Given the description of an element on the screen output the (x, y) to click on. 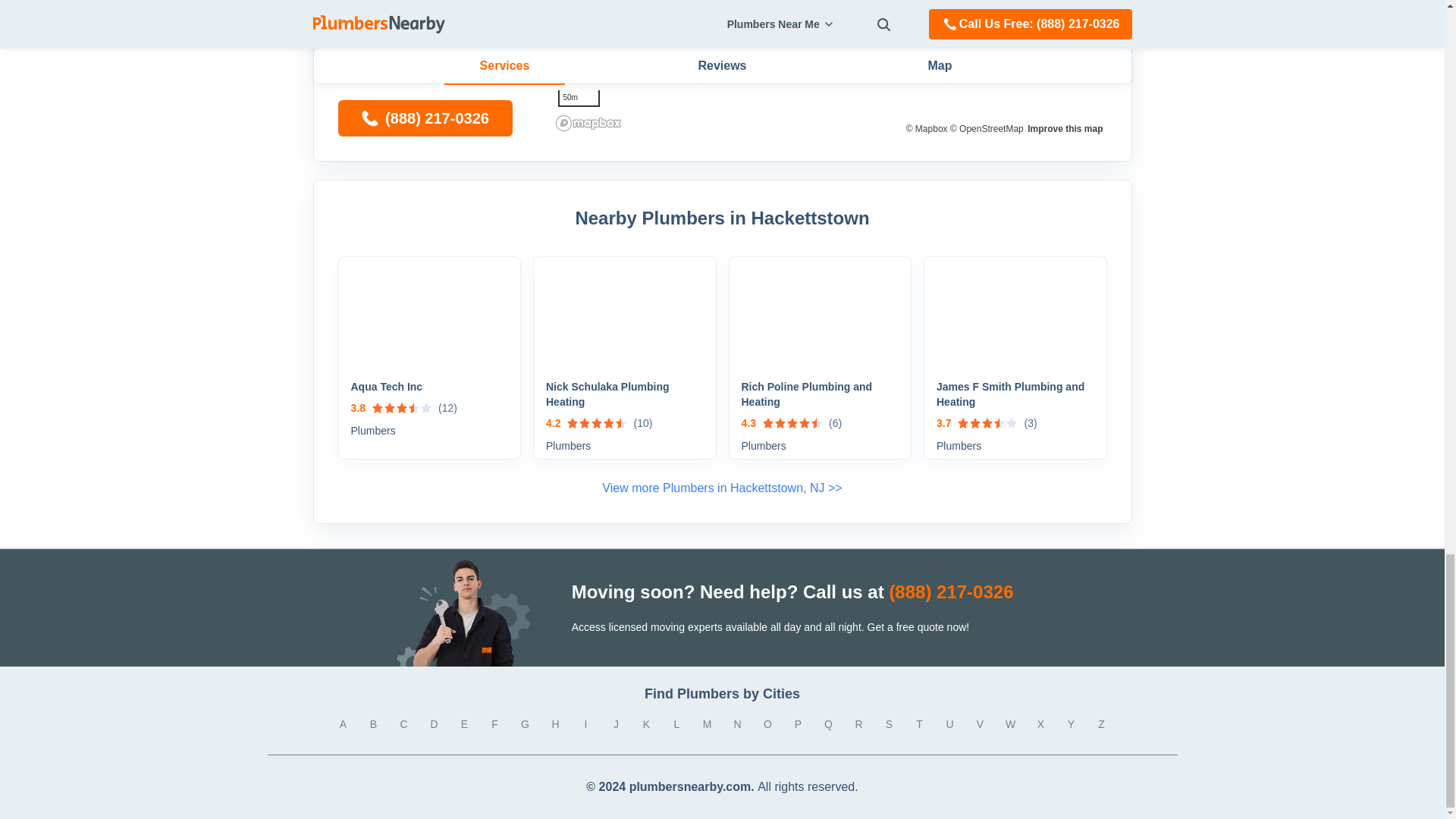
Mapbox (926, 128)
OpenStreetMap (986, 128)
Rich Poline Plumbing and Heating (820, 394)
Nick Schulaka Plumbing Heating (624, 394)
James F Smith Plumbing and Heating (1015, 394)
Aqua Tech Inc (429, 386)
